Given the description of an element on the screen output the (x, y) to click on. 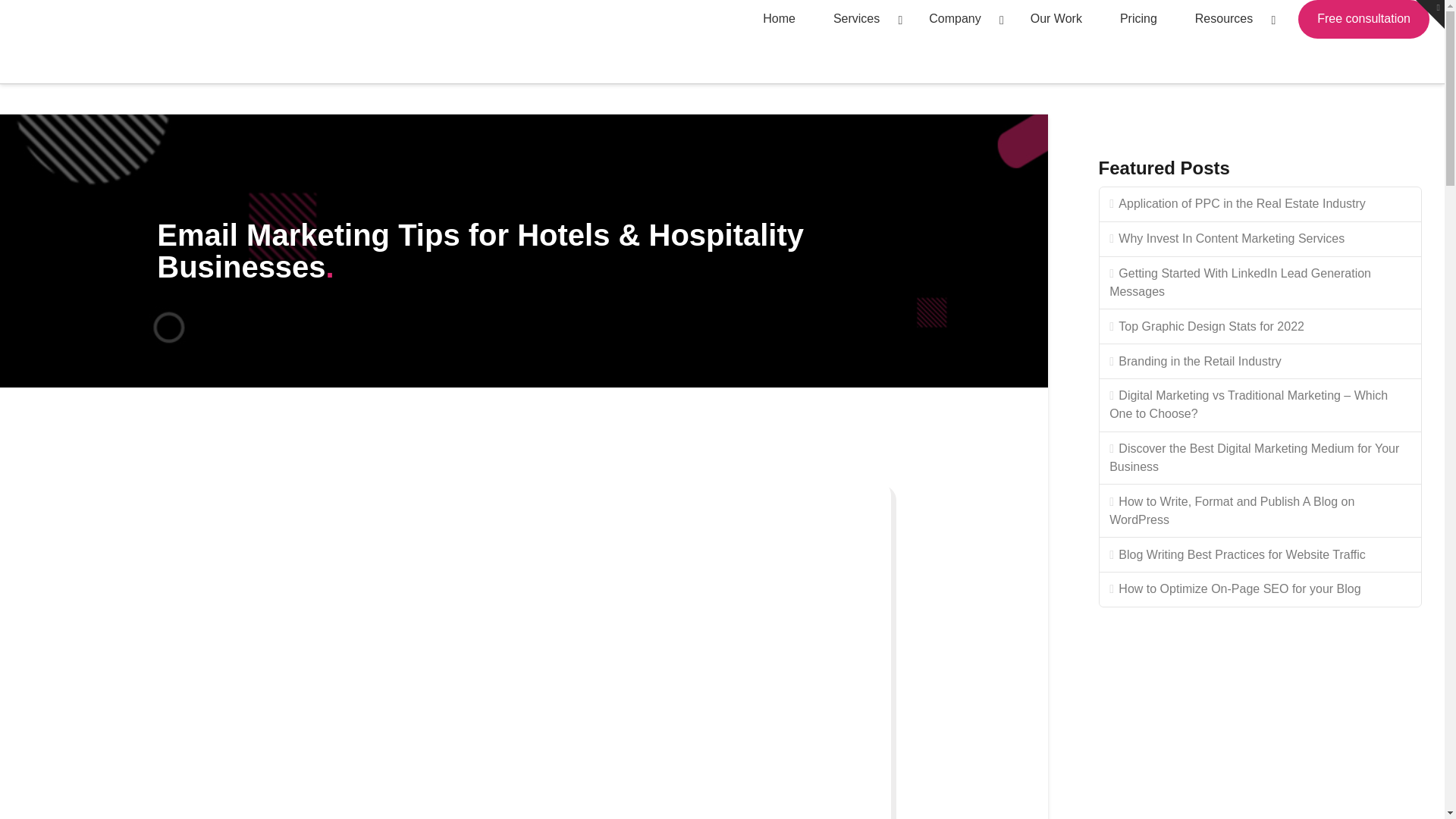
Branding in the Retail Industry (1260, 361)
Company (960, 19)
Free consultation (1363, 19)
Pricing (1138, 19)
Discover the Best Digital Marketing Medium for Your Business (1260, 458)
Blog Writing Best Practices for Website Traffic (1260, 554)
Resources (1229, 19)
Services (861, 19)
Why Invest In Content Marketing Services (1260, 239)
Home (778, 19)
